Given the description of an element on the screen output the (x, y) to click on. 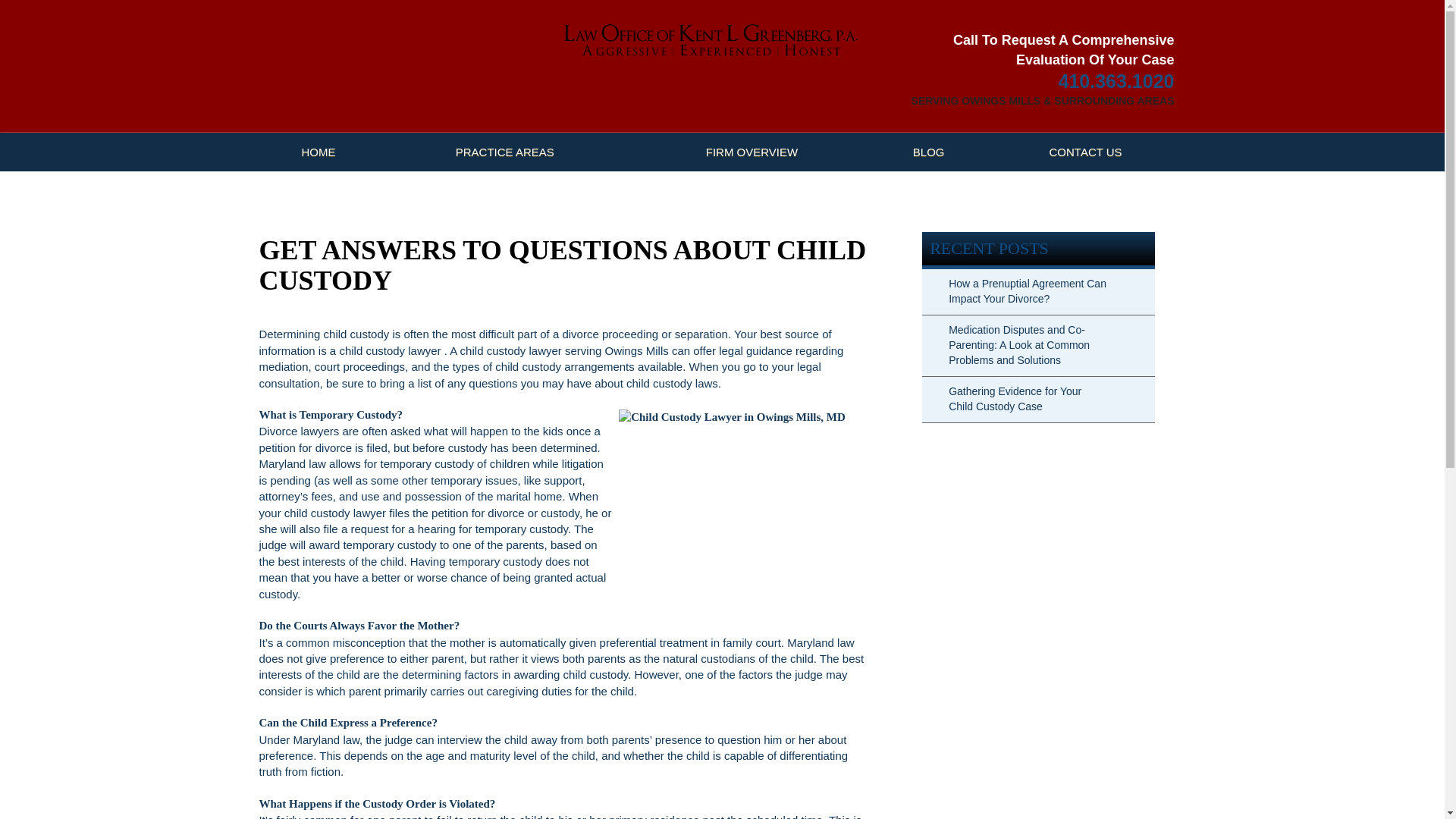
410.363.1020 (1116, 81)
PRACTICE AREAS (504, 152)
BLOG (928, 152)
FIRM OVERVIEW (751, 152)
HOME (318, 152)
